Given the description of an element on the screen output the (x, y) to click on. 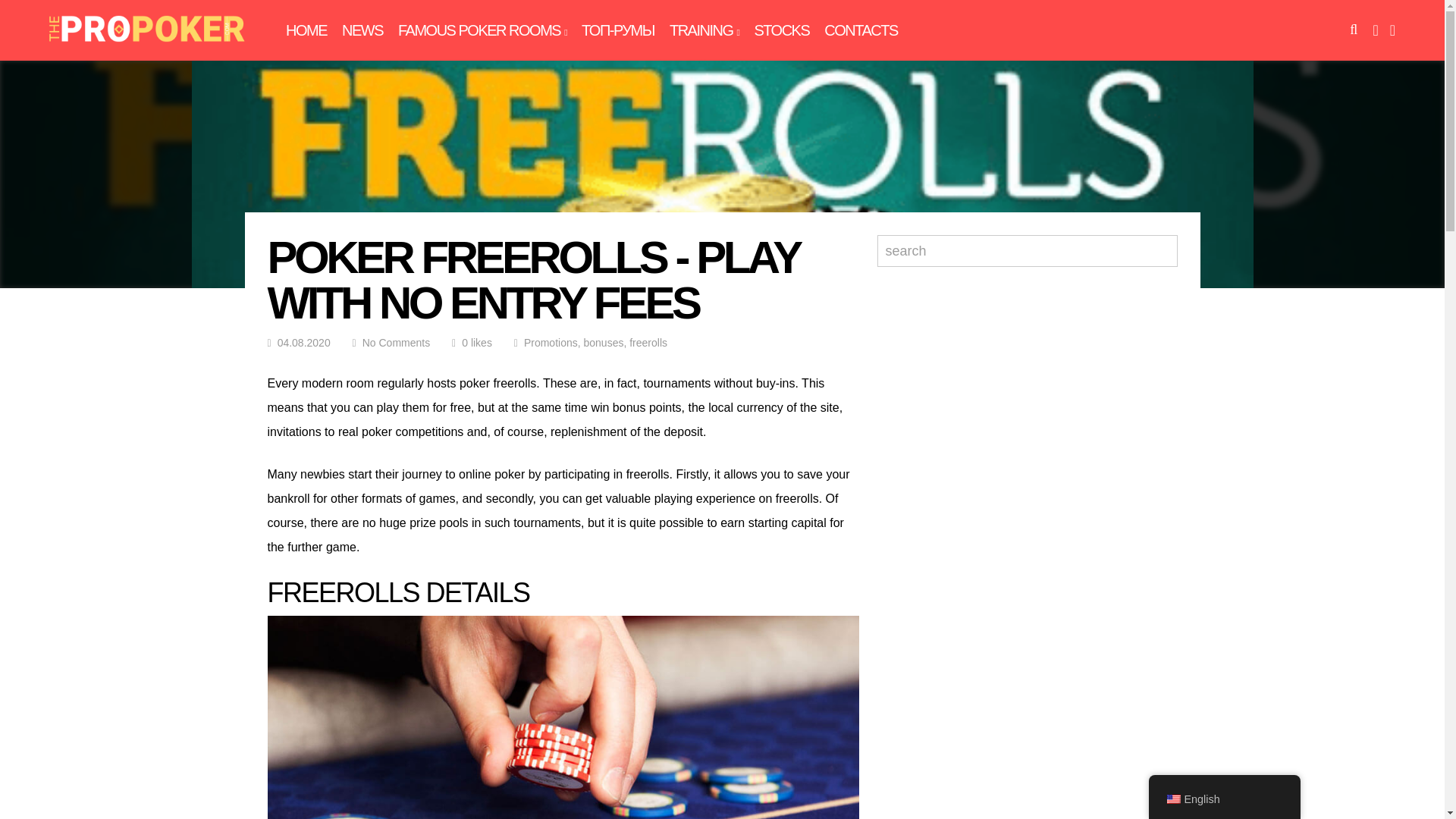
English (1172, 798)
NEWS (362, 29)
TRAINING (703, 29)
STOCKS (781, 29)
TheProPoker (146, 45)
FAMOUS POKER ROOMS (481, 29)
CONTACTS (861, 29)
HOME (305, 29)
